Given the description of an element on the screen output the (x, y) to click on. 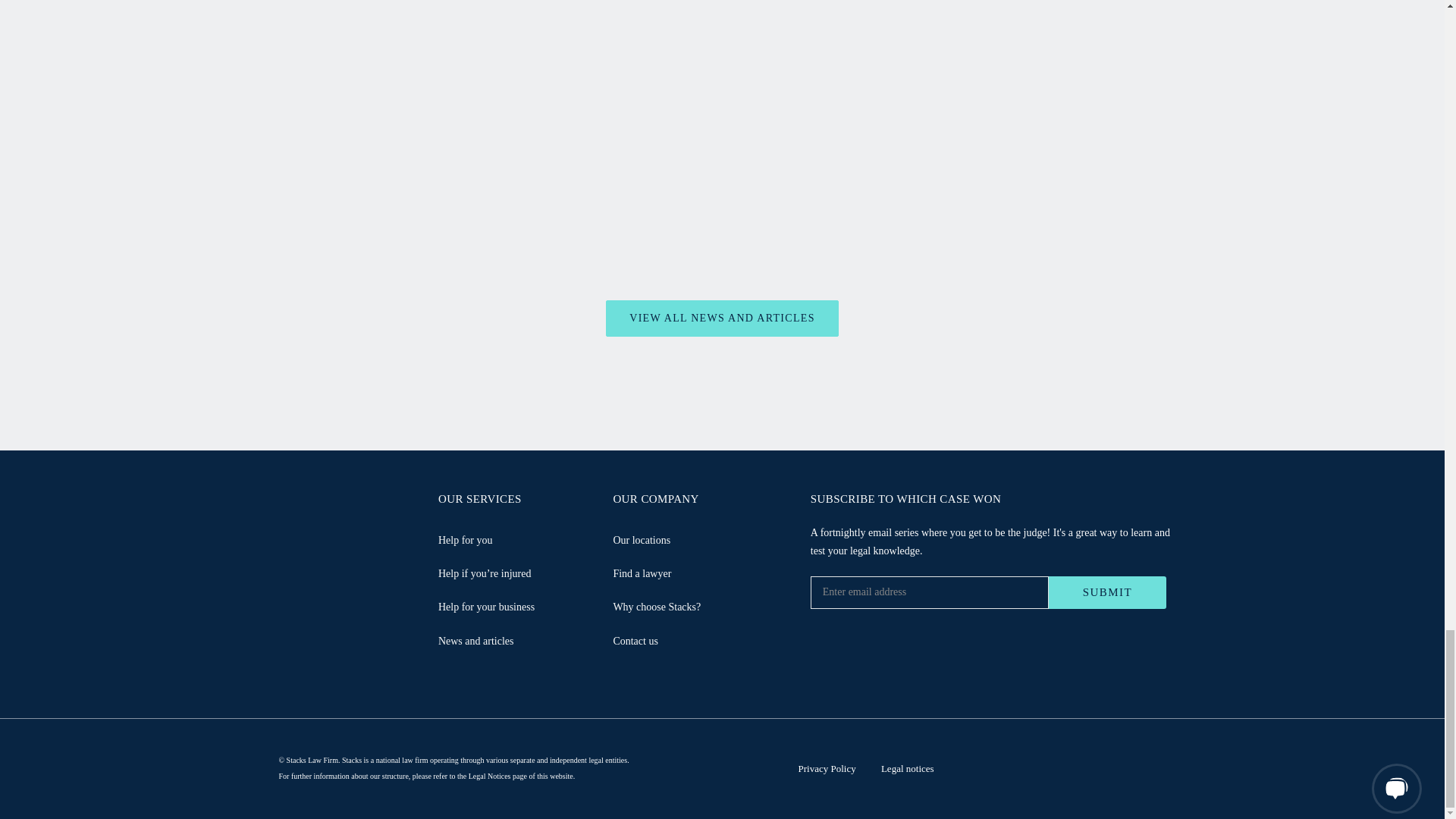
Submit (1107, 592)
